Given the description of an element on the screen output the (x, y) to click on. 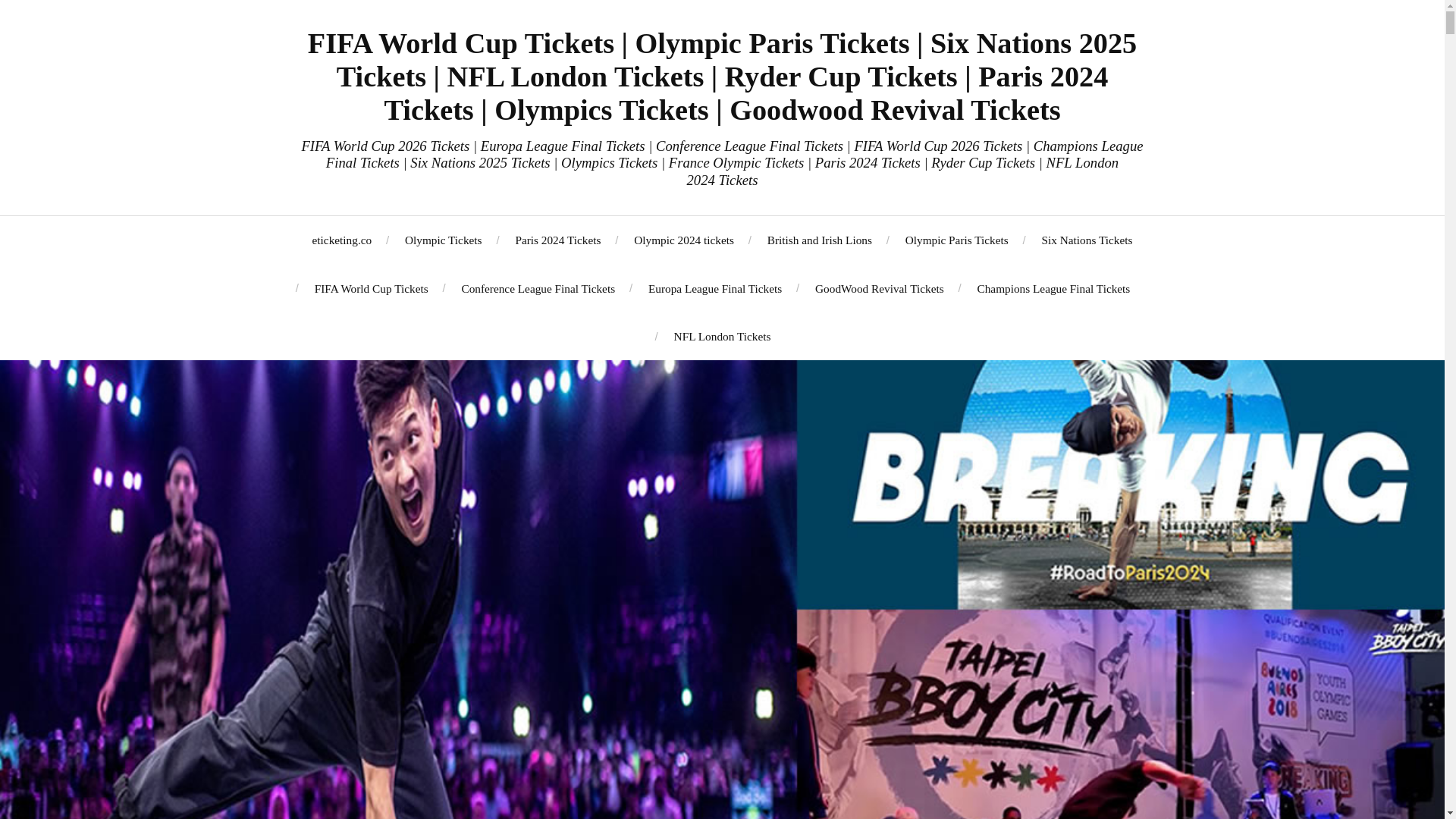
Olympic Tickets (442, 239)
Olympic 2024 tickets (683, 239)
Olympic Paris Tickets (957, 239)
Conference League Final Tickets (537, 288)
NFL London Tickets (722, 336)
Europa League Final Tickets (714, 288)
British and Irish Lions (819, 239)
FIFA World Cup Tickets (371, 288)
GoodWood Revival Tickets (879, 288)
Paris 2024 Tickets (557, 239)
